Given the description of an element on the screen output the (x, y) to click on. 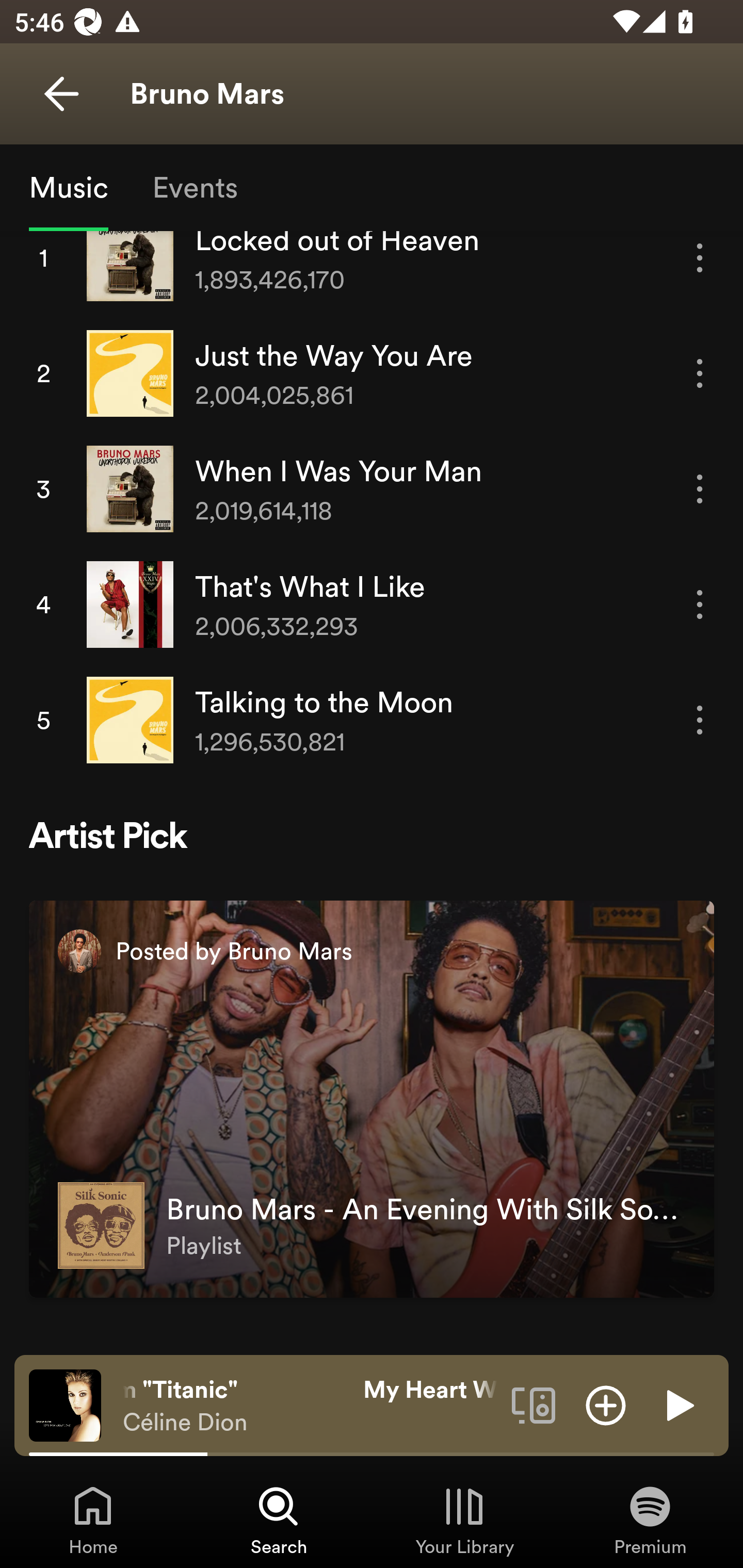
Back (60, 93)
Events (194, 187)
More options for song Locked out of Heaven (699, 265)
More options for song Just the Way You Are (699, 373)
More options for song When I Was Your Man (699, 488)
More options for song That's What I Like (699, 604)
More options for song Talking to the Moon (699, 720)
The cover art of the currently playing track (64, 1404)
Connect to a device. Opens the devices menu (533, 1404)
Add item (605, 1404)
Play (677, 1404)
Home, Tab 1 of 4 Home Home (92, 1519)
Search, Tab 2 of 4 Search Search (278, 1519)
Your Library, Tab 3 of 4 Your Library Your Library (464, 1519)
Premium, Tab 4 of 4 Premium Premium (650, 1519)
